Given the description of an element on the screen output the (x, y) to click on. 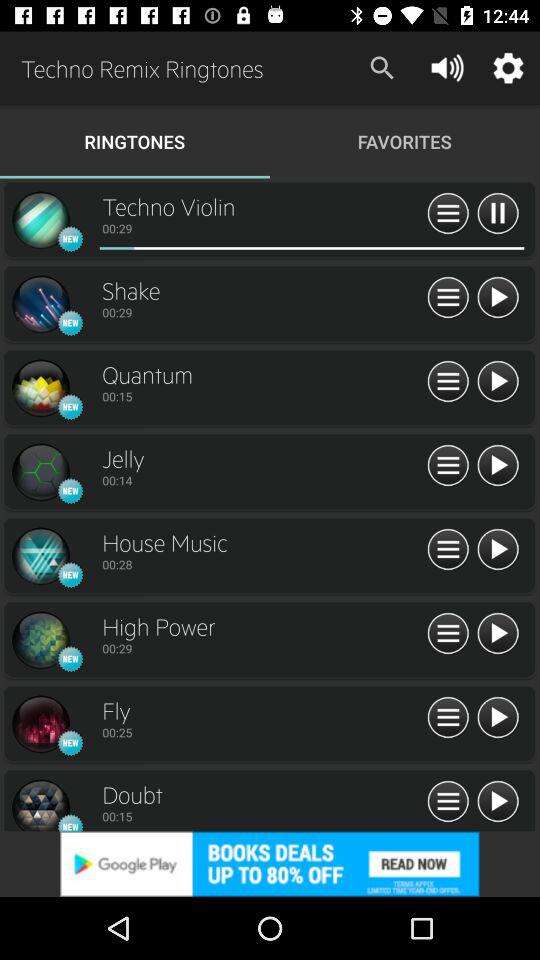
go to all (447, 297)
